Given the description of an element on the screen output the (x, y) to click on. 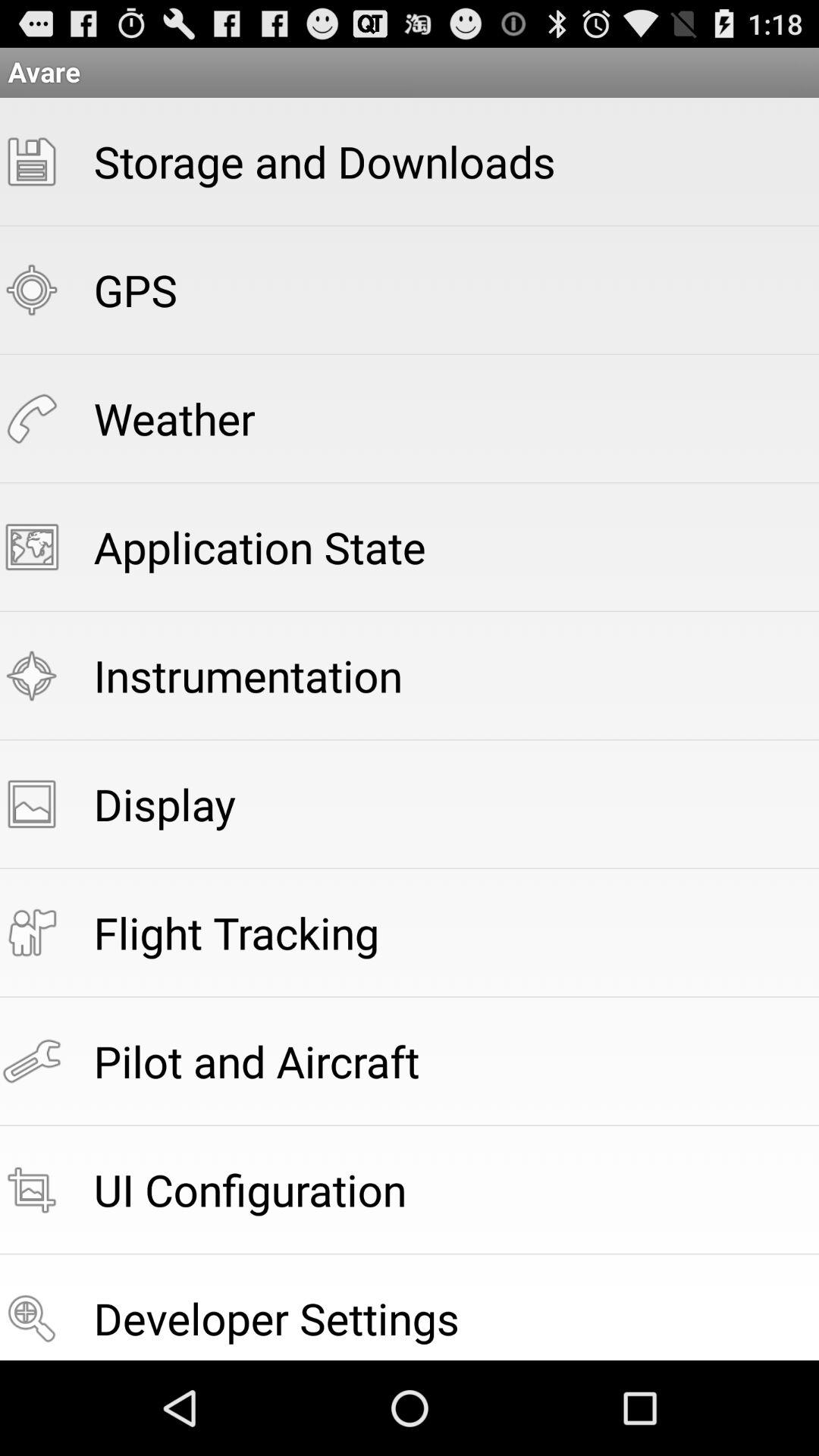
select icon below the ui configuration item (276, 1317)
